Given the description of an element on the screen output the (x, y) to click on. 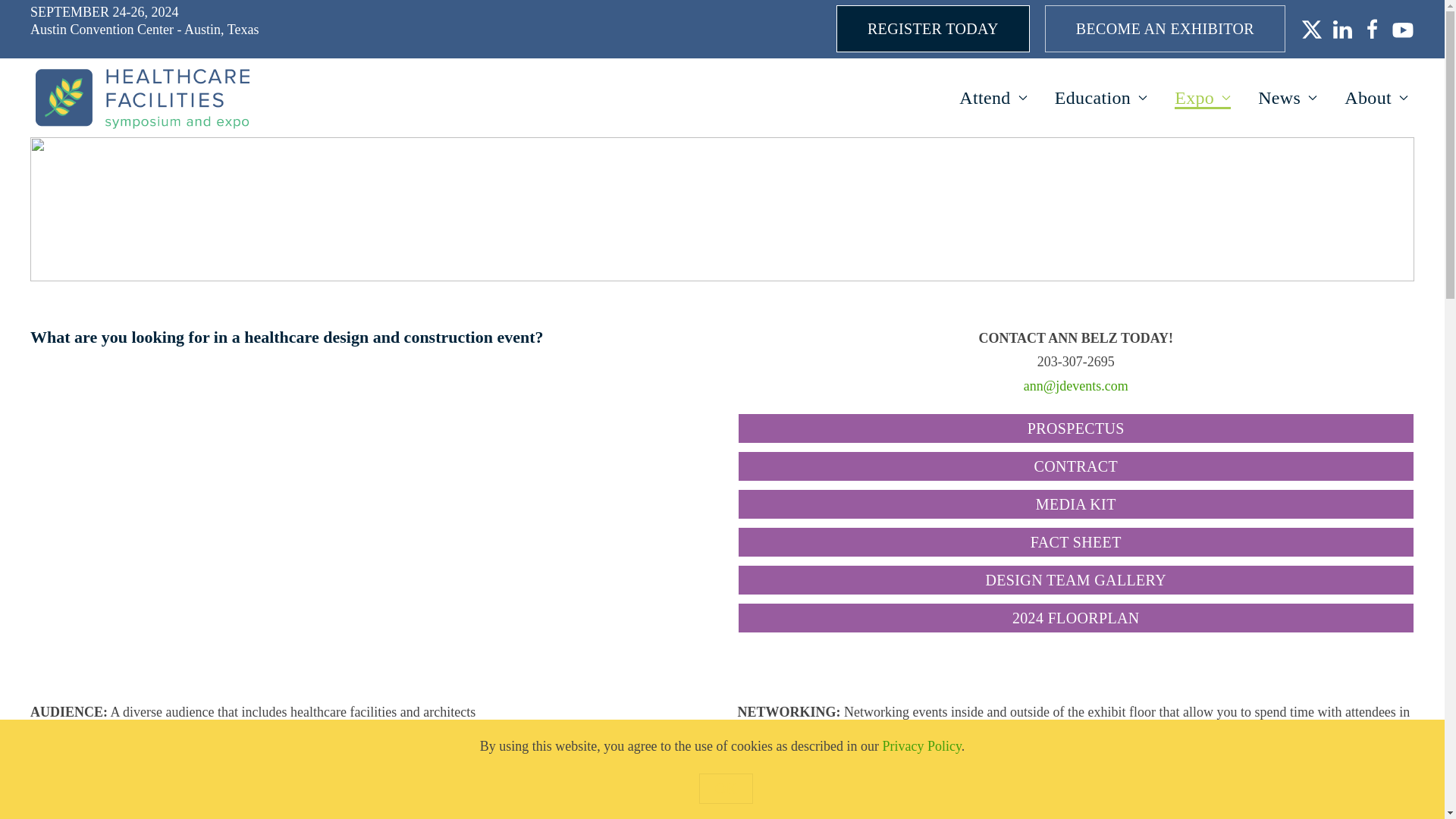
REGISTER TODAY (932, 28)
Expo (1202, 97)
BECOME AN EXHIBITOR (1165, 28)
Education (1100, 97)
Attend (992, 97)
